Given the description of an element on the screen output the (x, y) to click on. 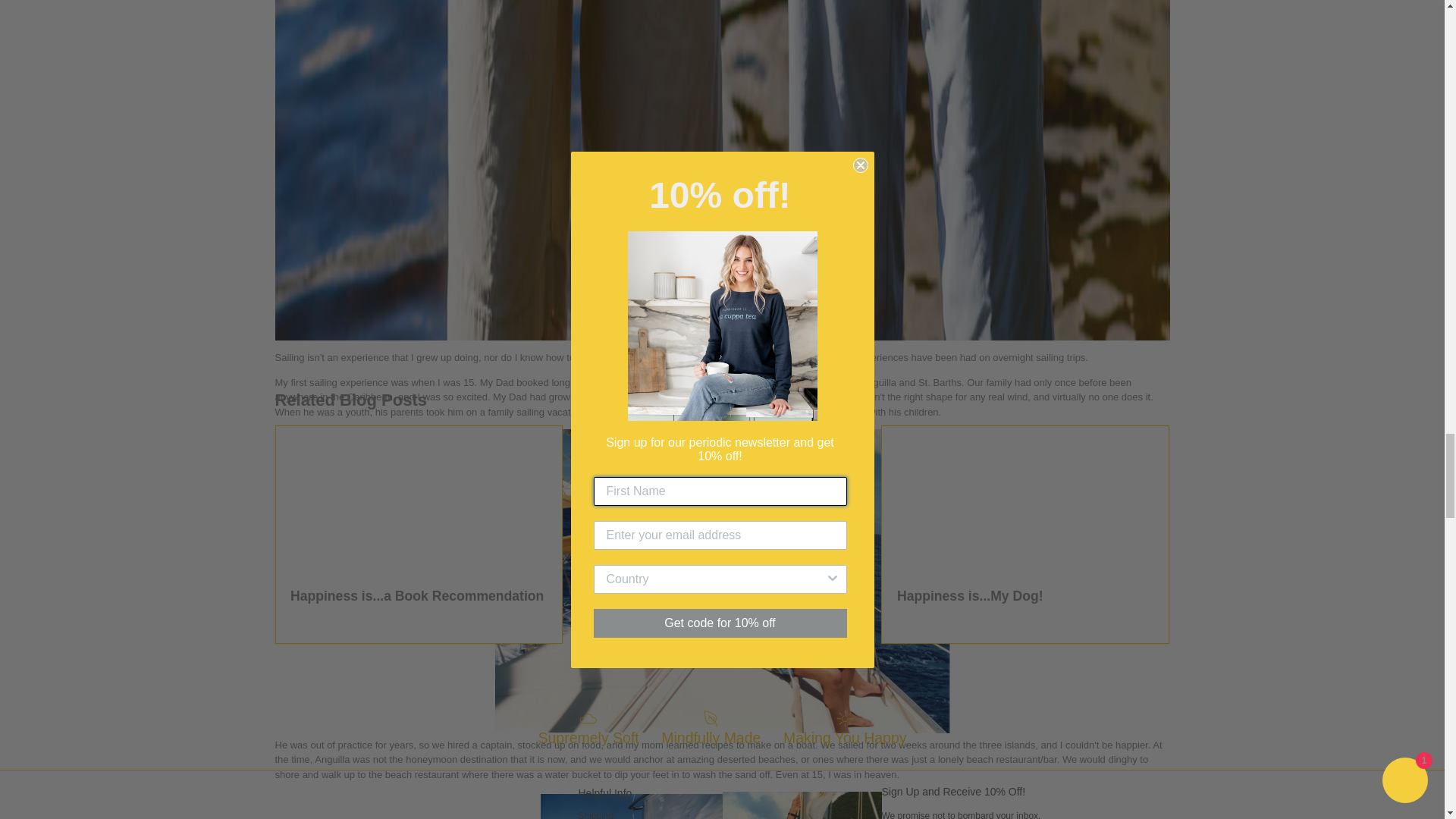
Happiness Is... (360, 802)
Happiness is...Fishing (721, 499)
Happiness is...My Dog! (1025, 499)
Happiness is...My Dog! (969, 595)
Happiness is...Fishing (664, 595)
Happiness is...a Book Recommendation (416, 595)
Happiness is...a Book Recommendation (419, 499)
